Given the description of an element on the screen output the (x, y) to click on. 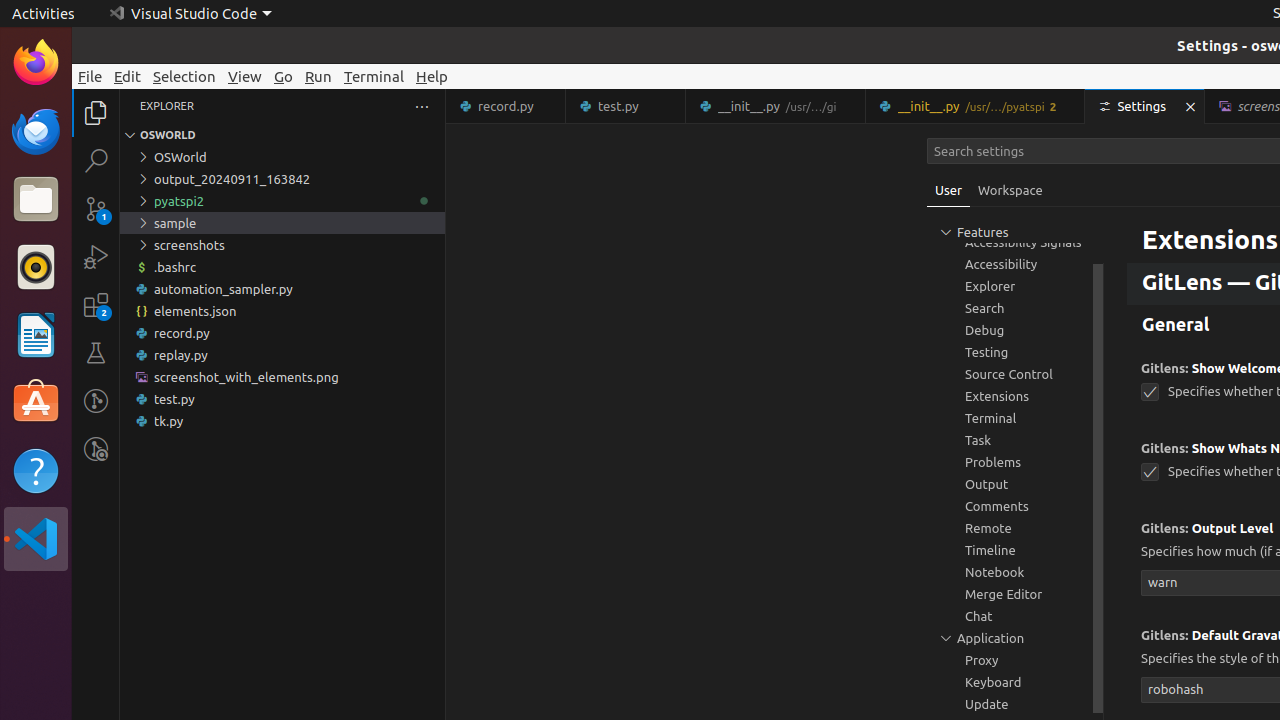
Terminal, group Element type: tree-item (1015, 418)
test.py Element type: page-tab (626, 106)
Remote, group Element type: tree-item (1015, 528)
